Given the description of an element on the screen output the (x, y) to click on. 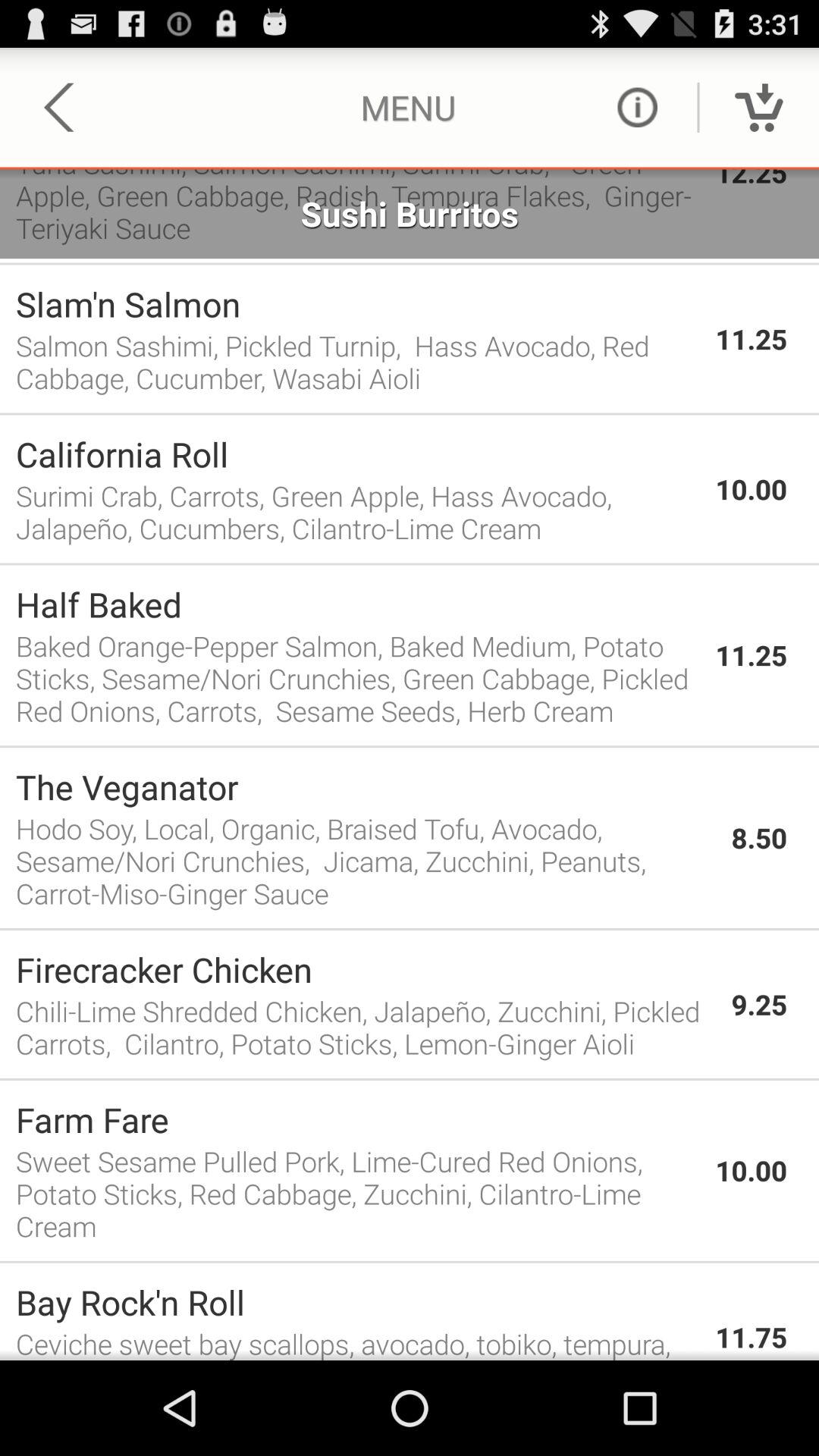
open app below sushi burritos item (409, 263)
